Given the description of an element on the screen output the (x, y) to click on. 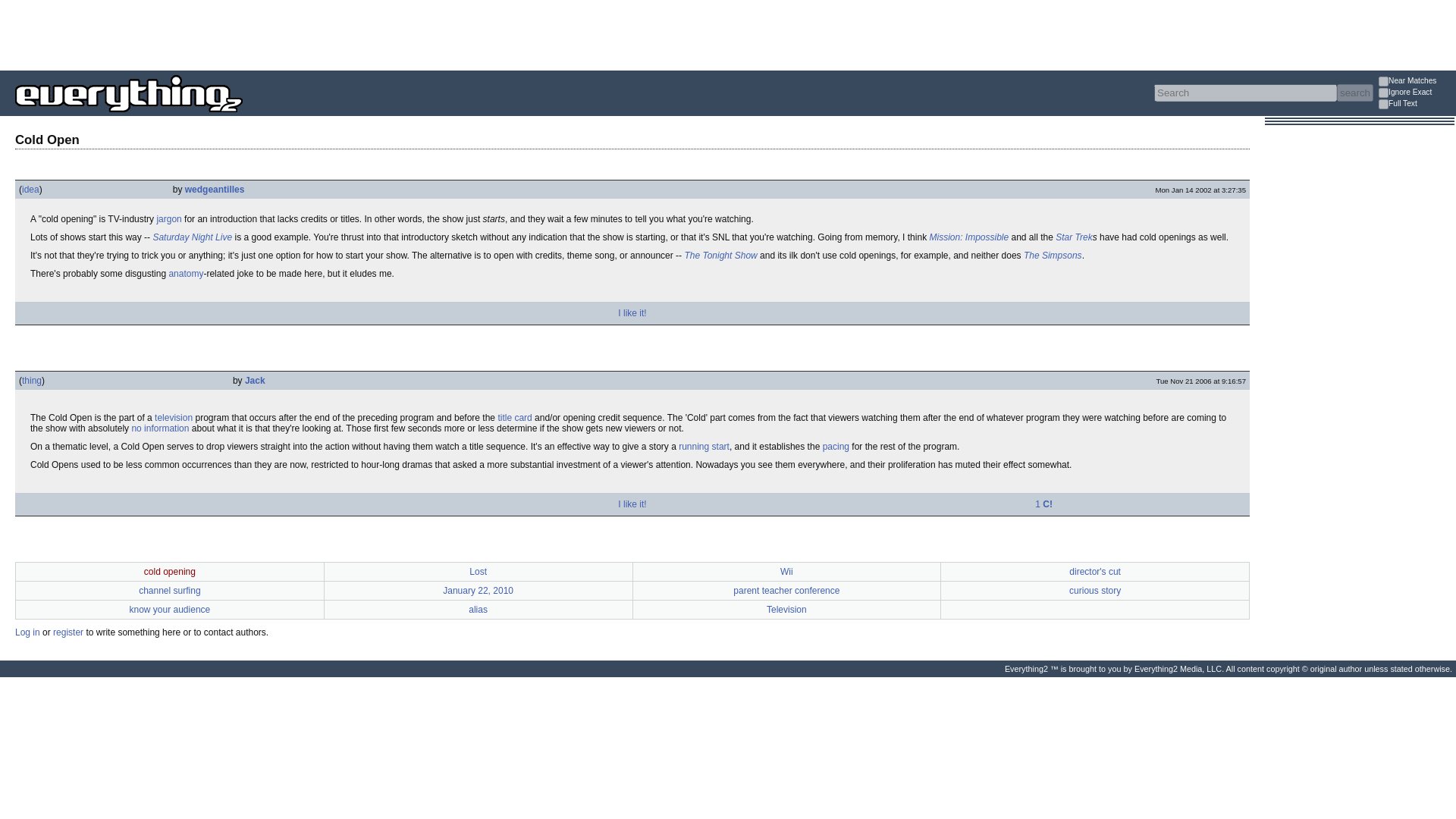
wedgeantilles (214, 189)
idea (30, 189)
Jan 14 2002 at 3:27:35 (1201, 189)
search (1354, 92)
pacing (835, 446)
Search for text within writeups (1416, 104)
thing (31, 380)
Advertisement (275, 33)
The Tonight Show (720, 255)
1 (1383, 92)
The Simpsons (1052, 255)
Facebook (41, 313)
1 (1383, 103)
search (1354, 92)
title card (514, 417)
